Given the description of an element on the screen output the (x, y) to click on. 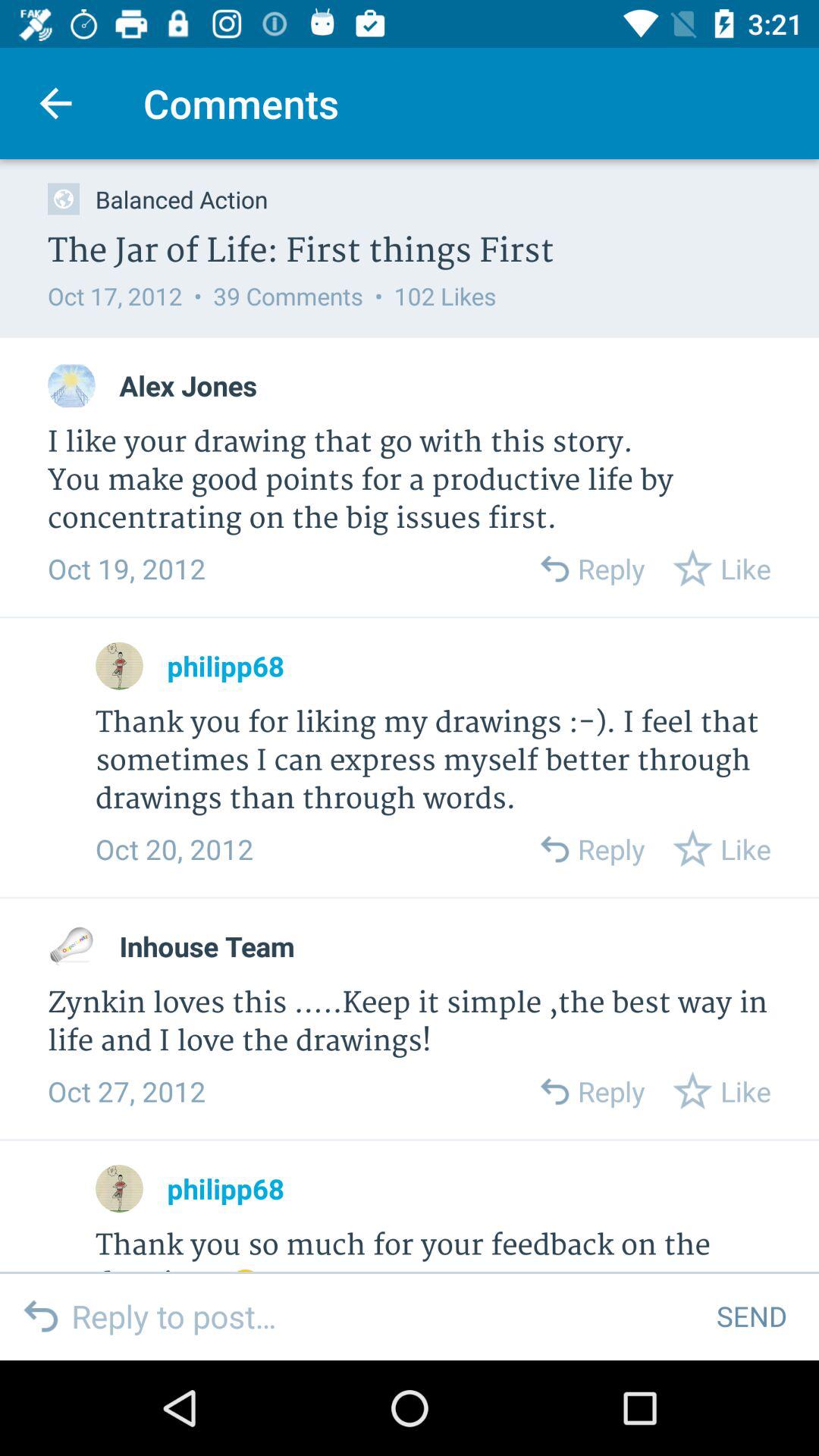
profile picture (71, 385)
